Given the description of an element on the screen output the (x, y) to click on. 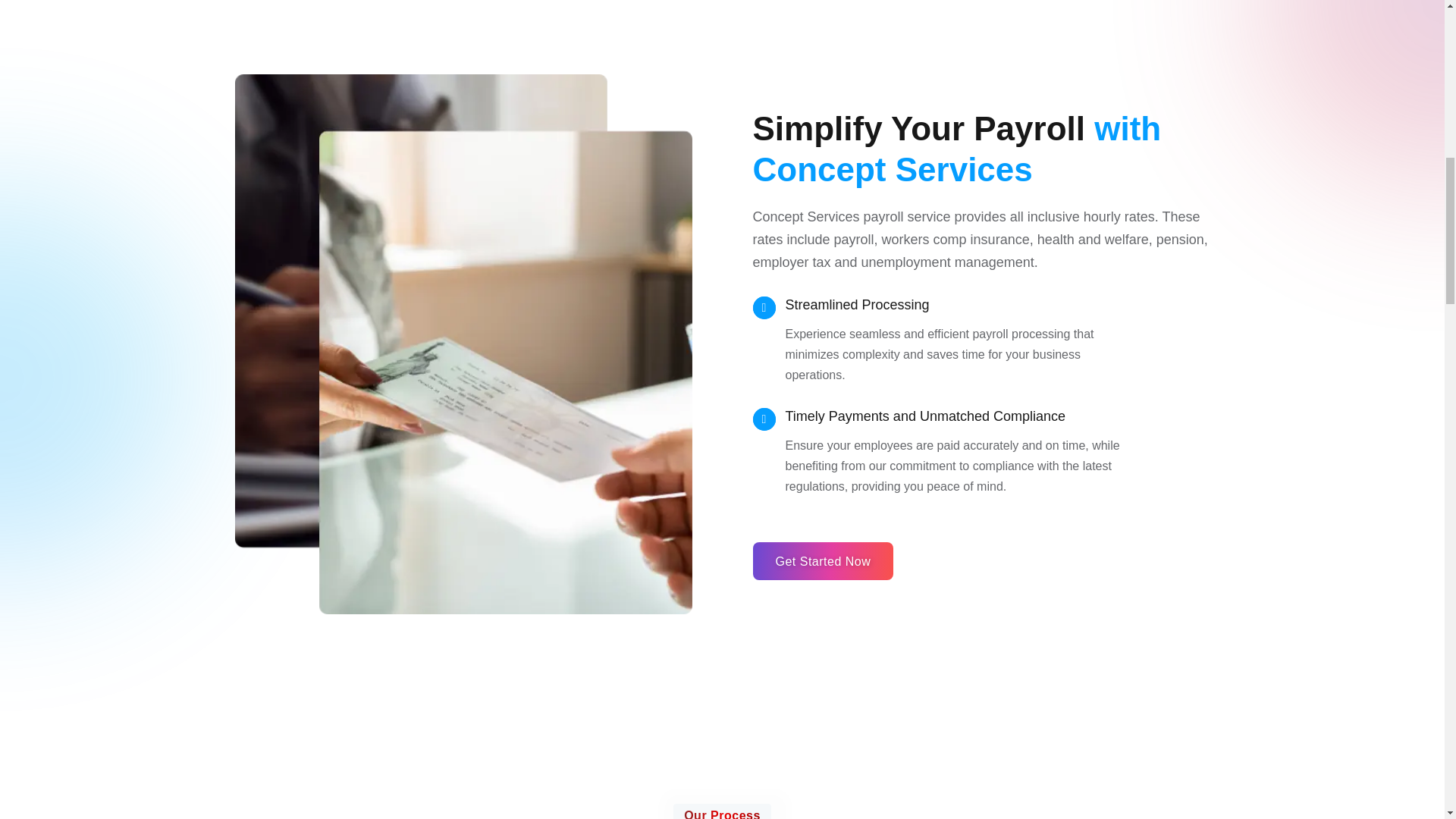
Get Started Now (822, 560)
